Given the description of an element on the screen output the (x, y) to click on. 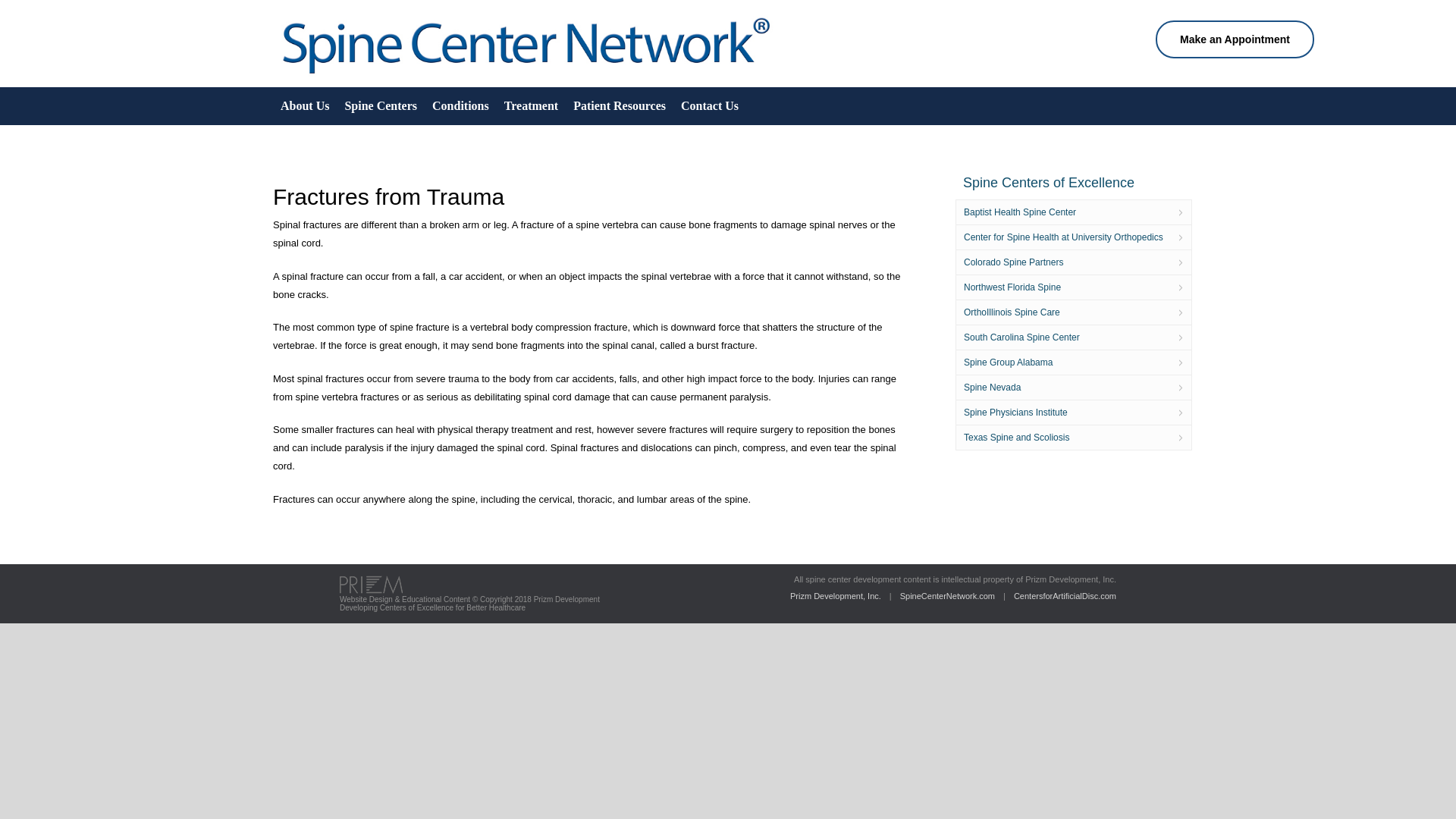
HOME (525, 75)
